Given the description of an element on the screen output the (x, y) to click on. 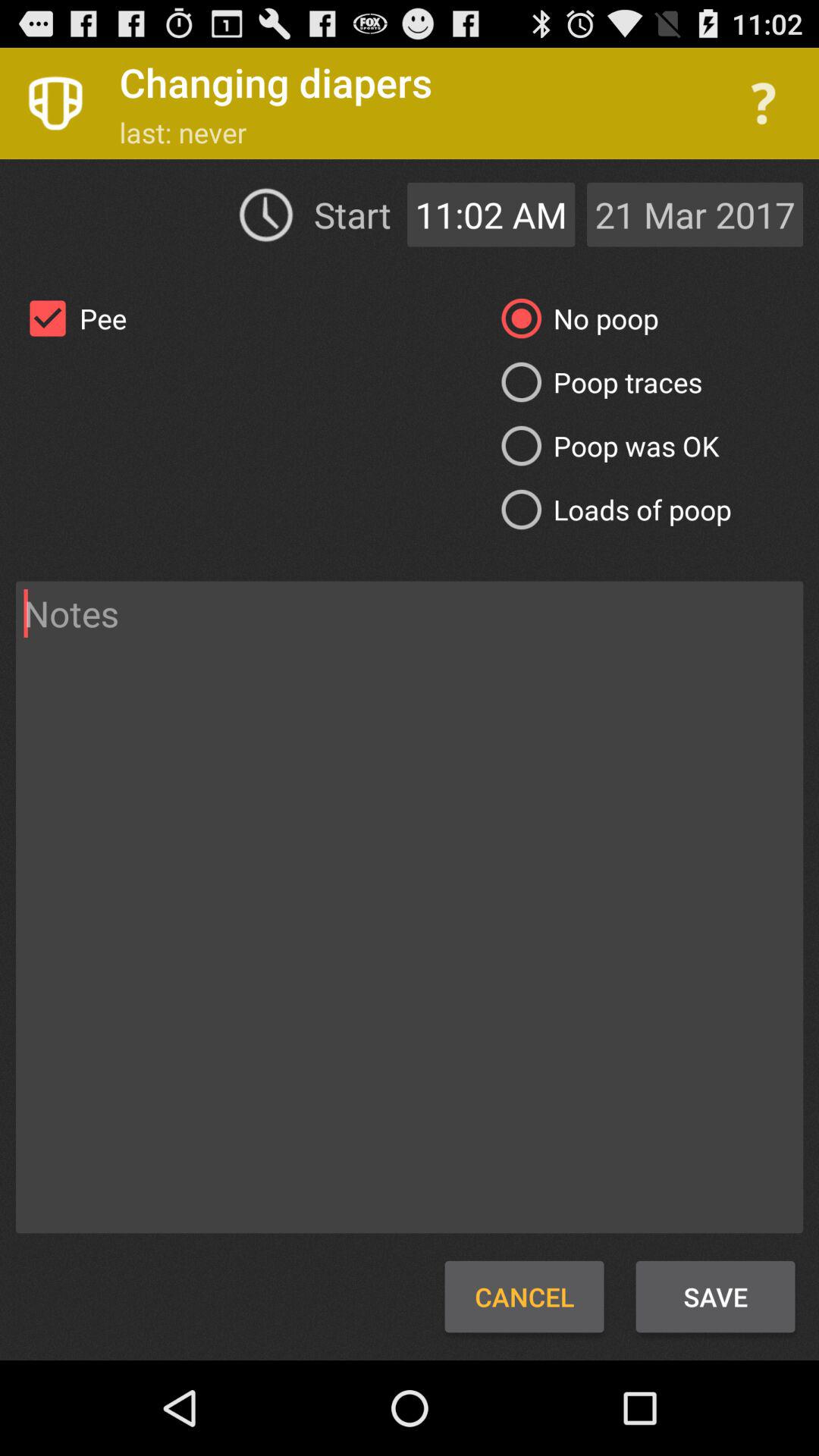
tap the icon next to the pee (573, 318)
